Given the description of an element on the screen output the (x, y) to click on. 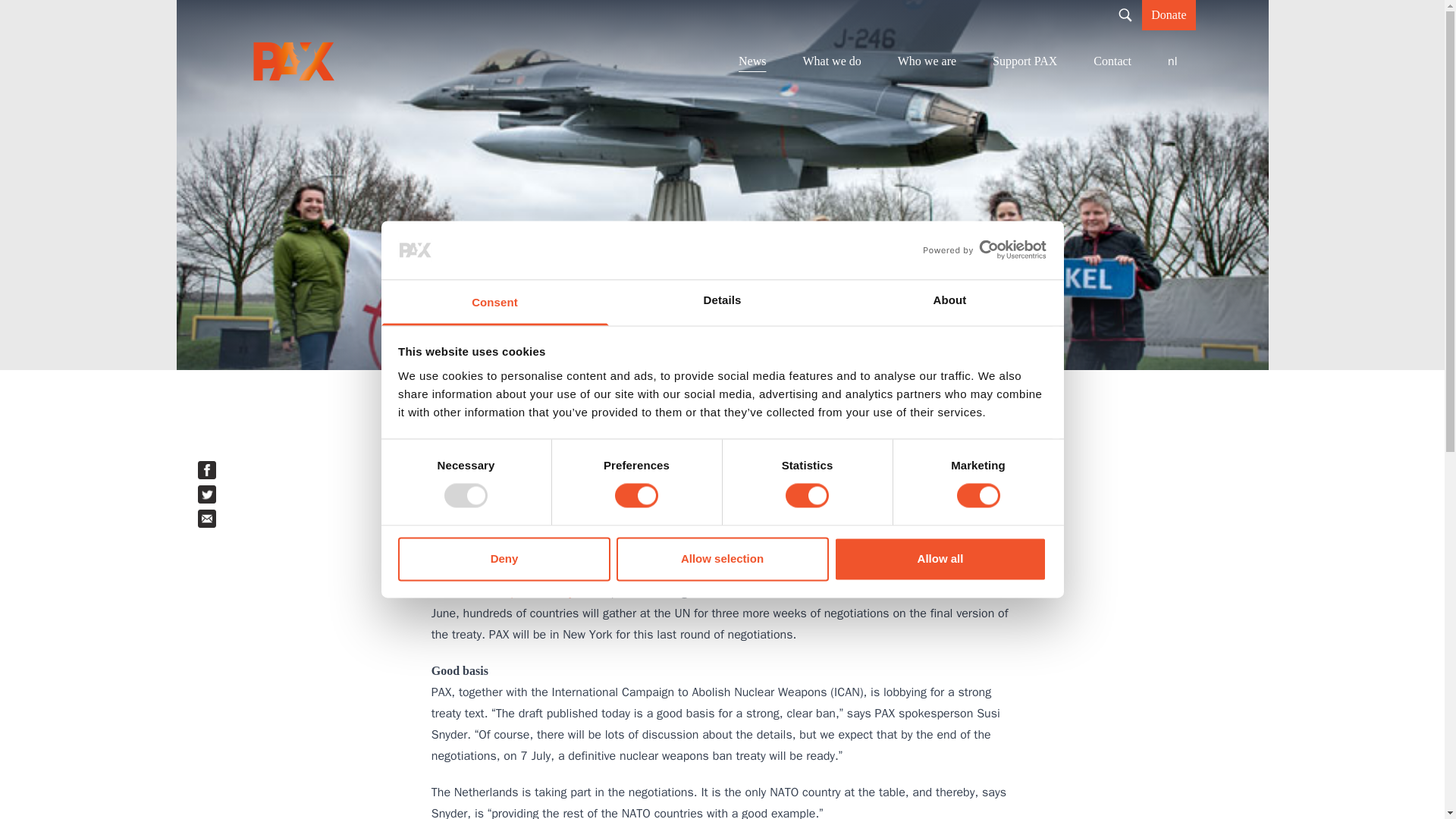
Details (721, 302)
Allow selection (721, 558)
Consent (494, 302)
Allow all (940, 558)
About (948, 302)
Deny (503, 558)
